Given the description of an element on the screen output the (x, y) to click on. 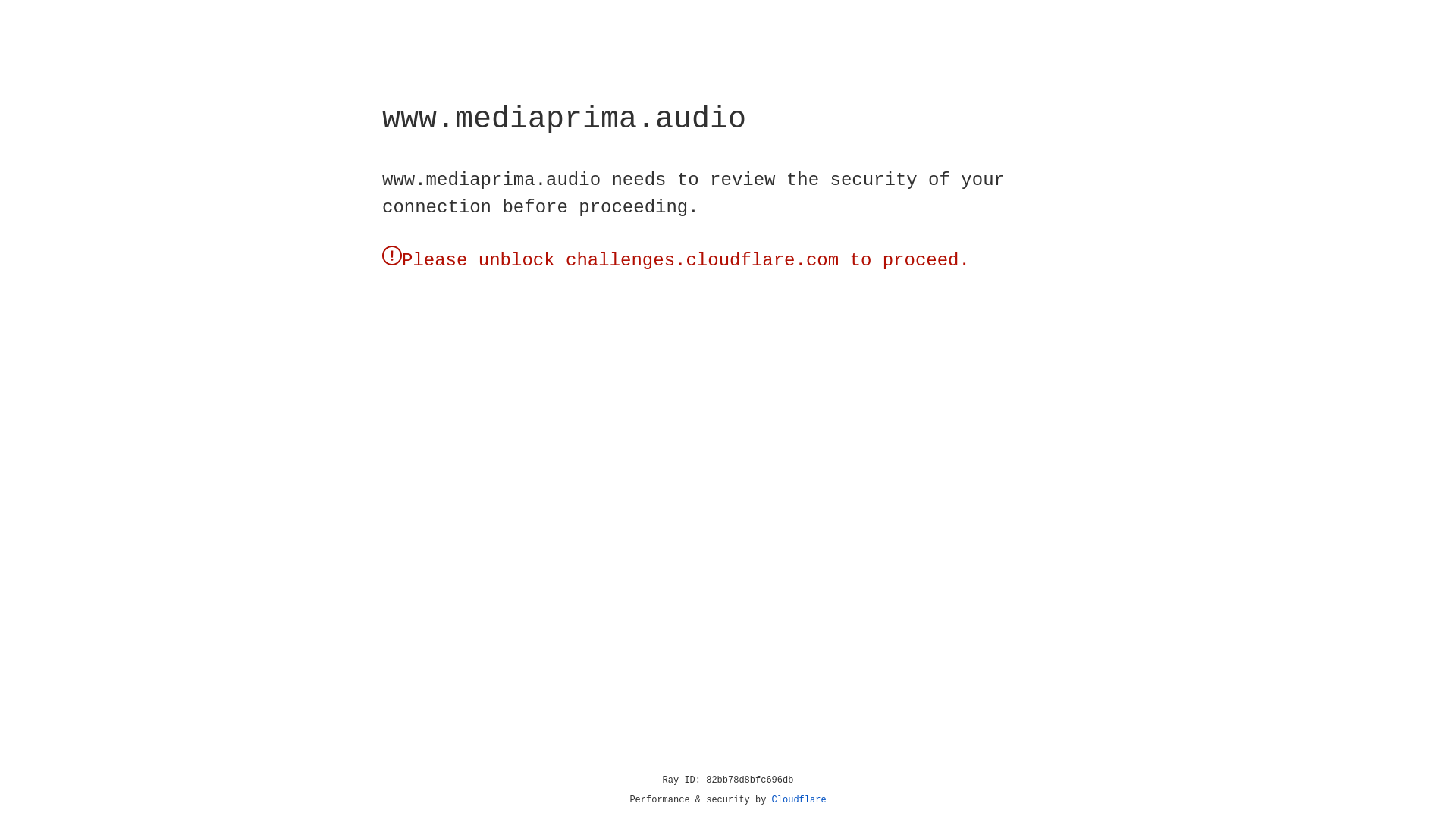
Cloudflare Element type: text (798, 799)
